Given the description of an element on the screen output the (x, y) to click on. 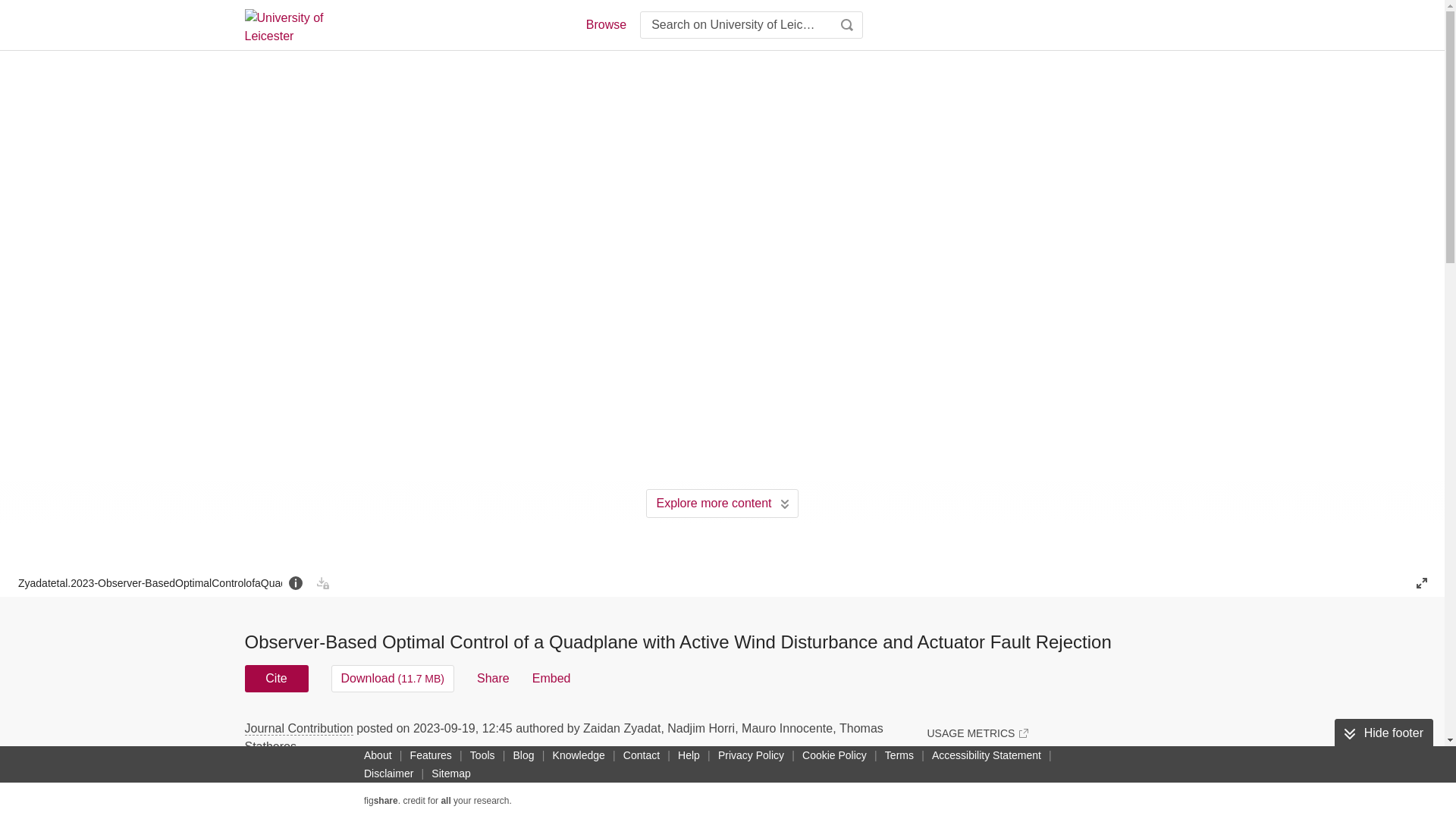
Cite (275, 678)
Zyadatetal.2023-Observer-BasedOptimalControlofaQuadplane.pdf (149, 583)
About (377, 755)
Share (493, 678)
Blog (523, 755)
USAGE METRICS (976, 732)
Explore more content (721, 502)
Features (431, 755)
Hide footer (1383, 733)
Embed (551, 678)
Browse (605, 24)
Tools (482, 755)
